Given the description of an element on the screen output the (x, y) to click on. 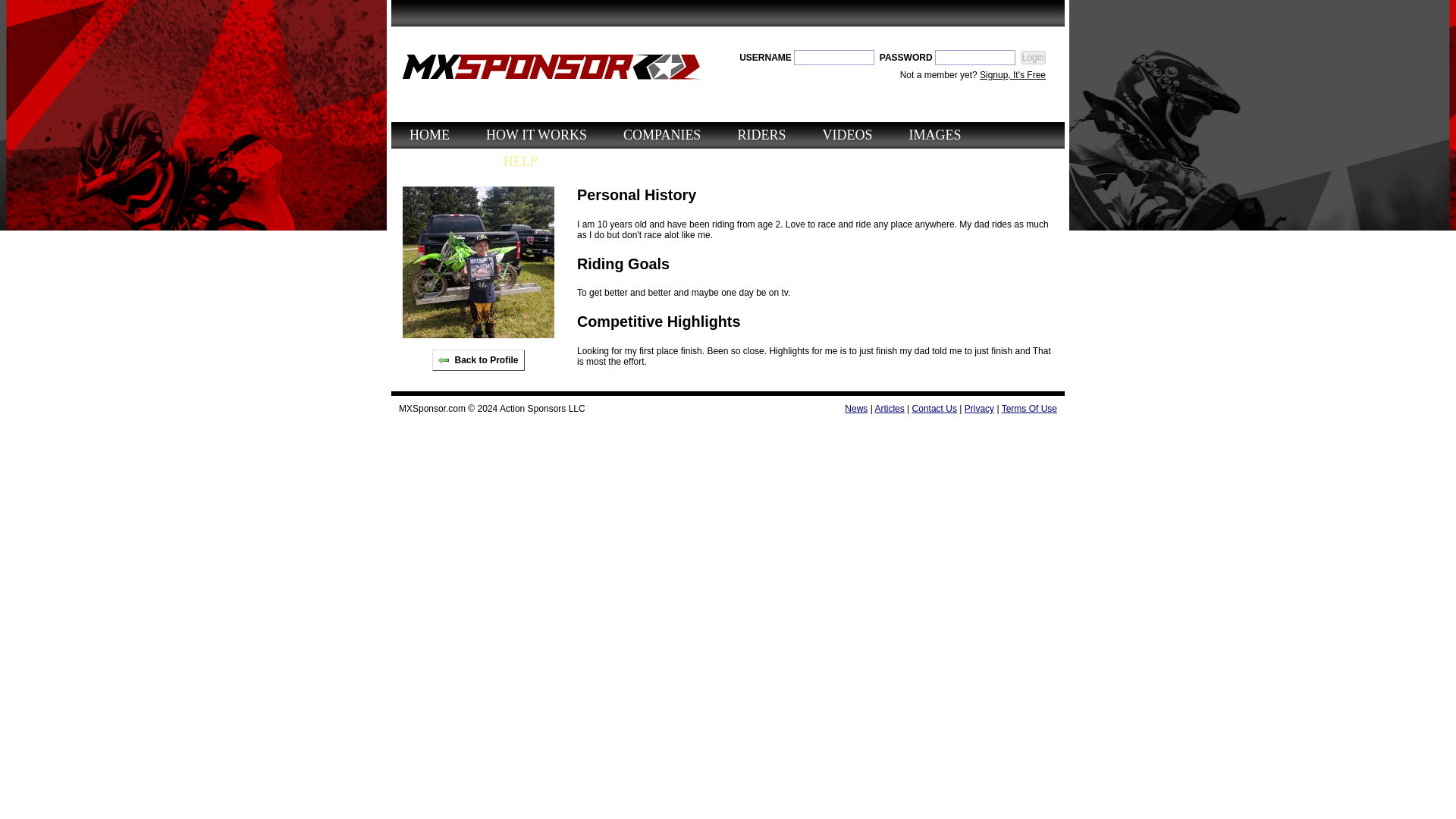
SAVINGS (438, 161)
Contact Us (934, 408)
Articles (889, 408)
RIDERS (761, 135)
Terms Of Use (1029, 408)
HOW IT WORKS (536, 135)
COMPANIES (661, 135)
Login (1032, 57)
News (855, 408)
Login (1032, 57)
Signup, It's Free (1012, 74)
IMAGES (934, 135)
Back to Profile (478, 360)
Action Sponsors LLC (542, 408)
VIDEOS (847, 135)
